Given the description of an element on the screen output the (x, y) to click on. 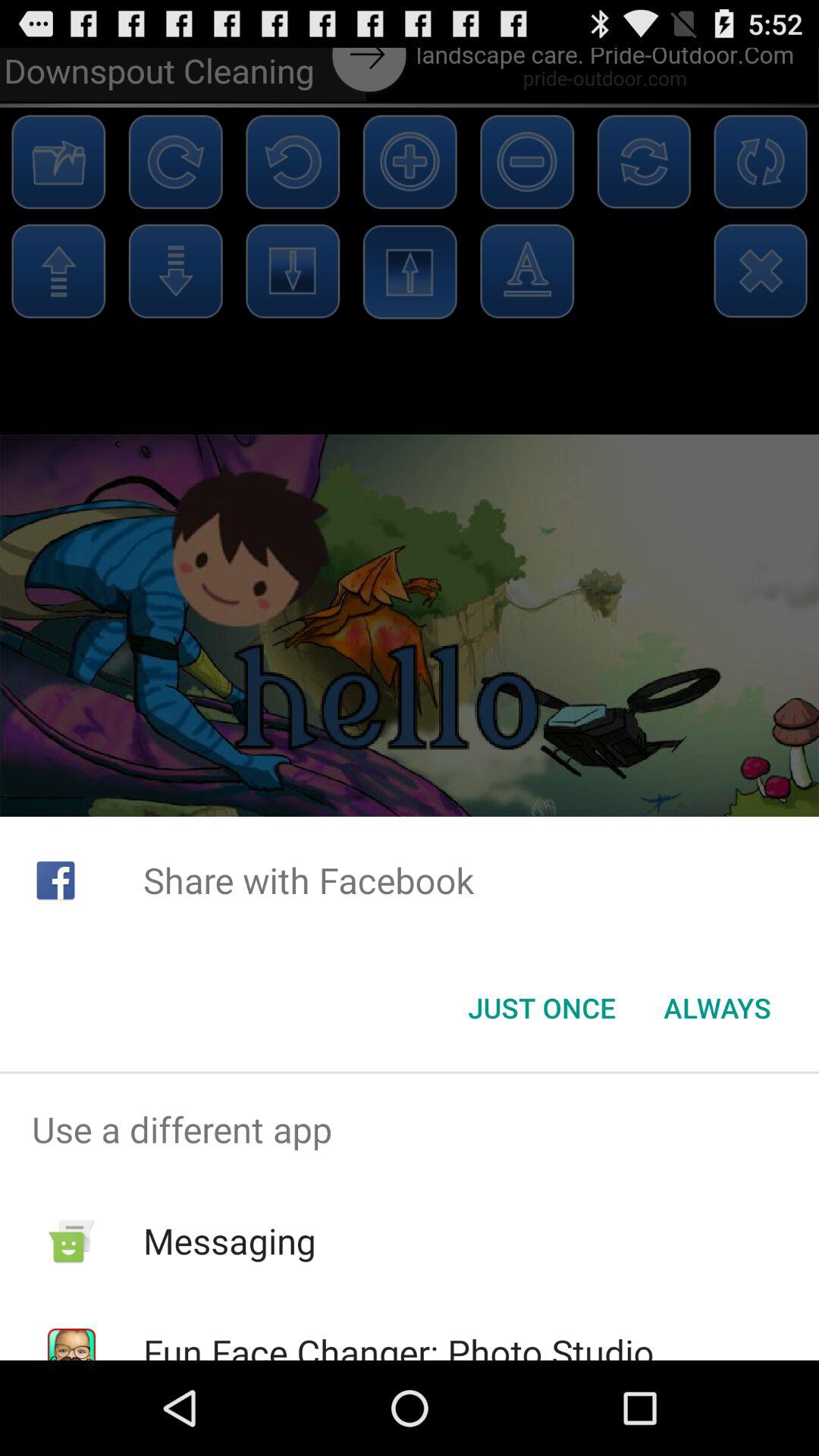
tap the item below the messaging item (398, 1344)
